Given the description of an element on the screen output the (x, y) to click on. 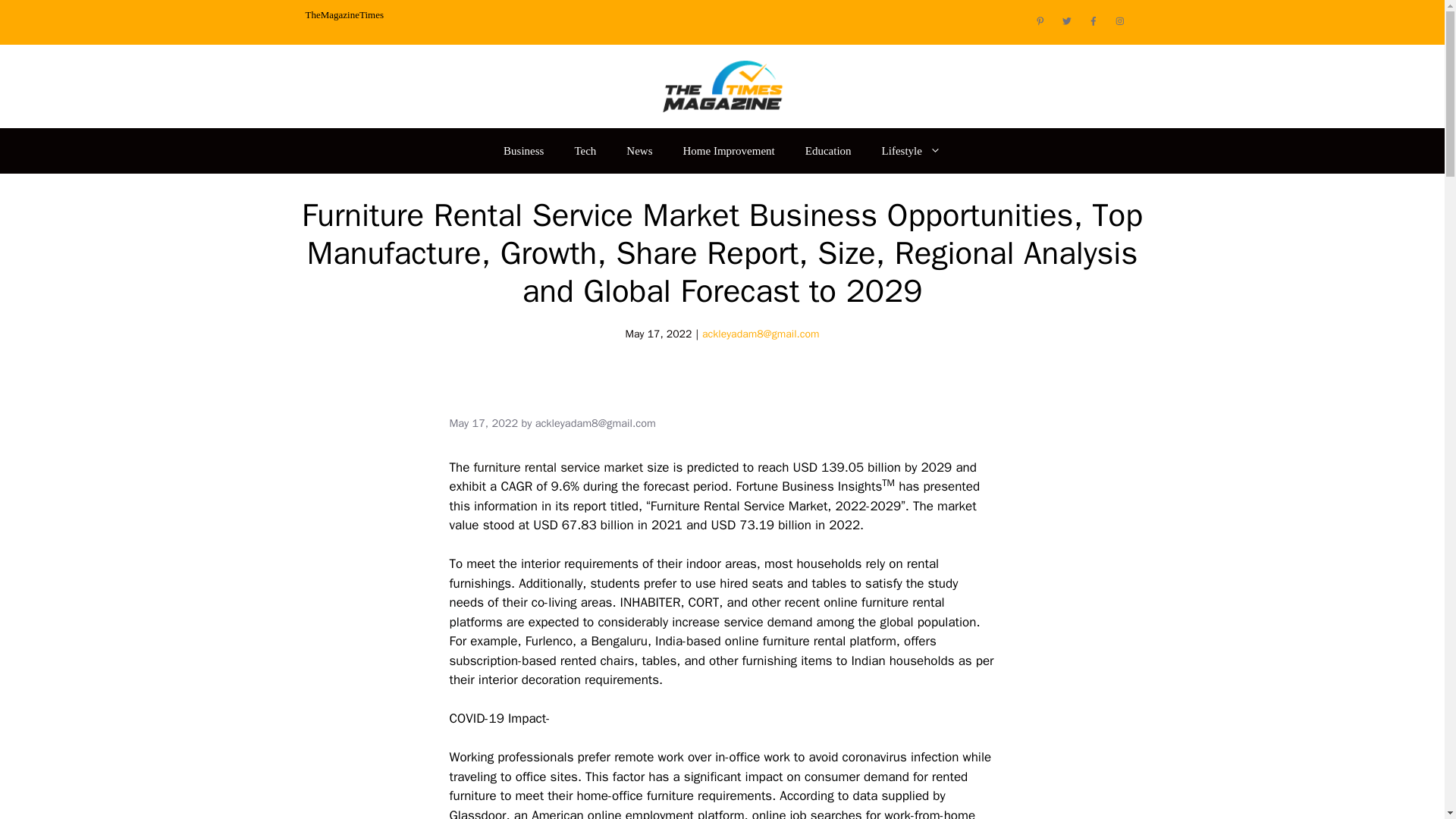
Lifestyle (911, 150)
News (638, 150)
furniture rental service market (558, 467)
Business (523, 150)
Home Improvement (729, 150)
TheMagazineTimes (344, 14)
Education (828, 150)
Tech (585, 150)
